Given the description of an element on the screen output the (x, y) to click on. 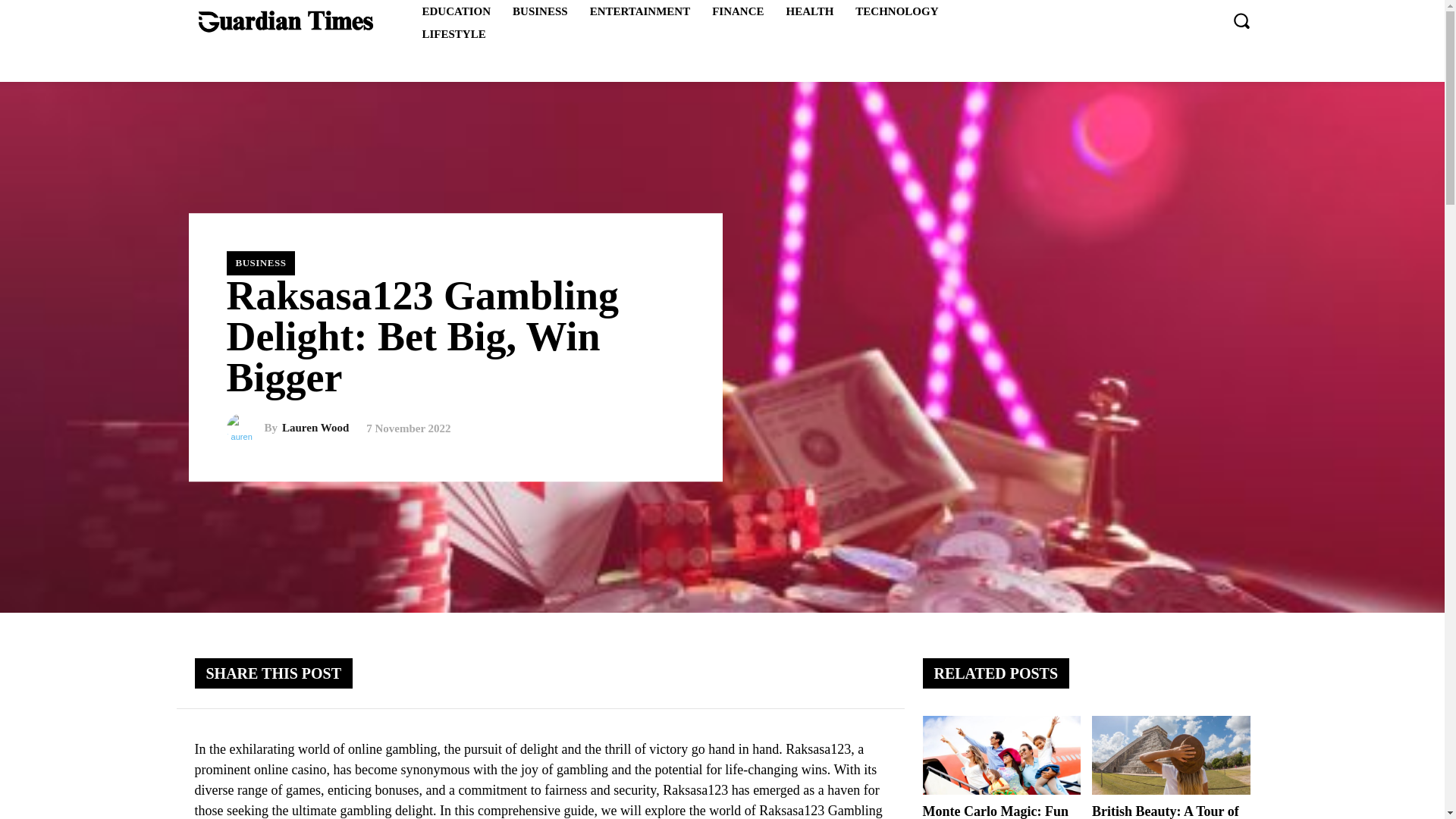
BUSINESS (260, 262)
TECHNOLOGY (896, 11)
BUSINESS (539, 11)
Monte Carlo Magic: Fun in the Lap of Luxury (994, 811)
Lauren Wood (244, 428)
Monte Carlo Magic: Fun in the Lap of Luxury (994, 811)
EDUCATION (455, 11)
ENTERTAINMENT (640, 11)
FINANCE (738, 11)
British Beauty: A Tour of Entertainment and Diversion (1171, 754)
Monte Carlo Magic: Fun in the Lap of Luxury (1000, 754)
LIFESTYLE (453, 33)
British Beauty: A Tour of Entertainment and Diversion (1165, 811)
HEALTH (810, 11)
Lauren Wood (315, 428)
